Given the description of an element on the screen output the (x, y) to click on. 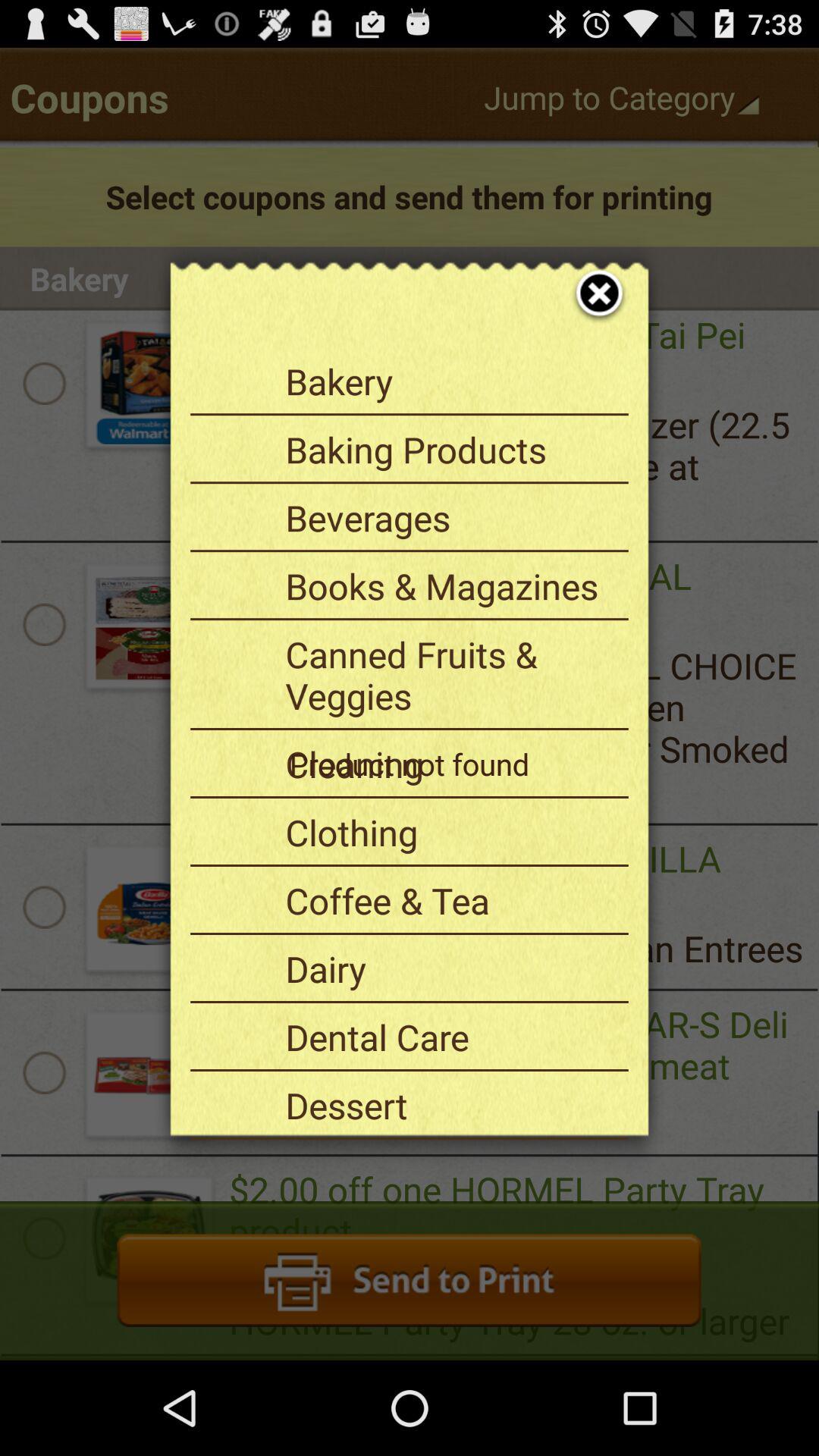
launch the item above dental care app (451, 968)
